Given the description of an element on the screen output the (x, y) to click on. 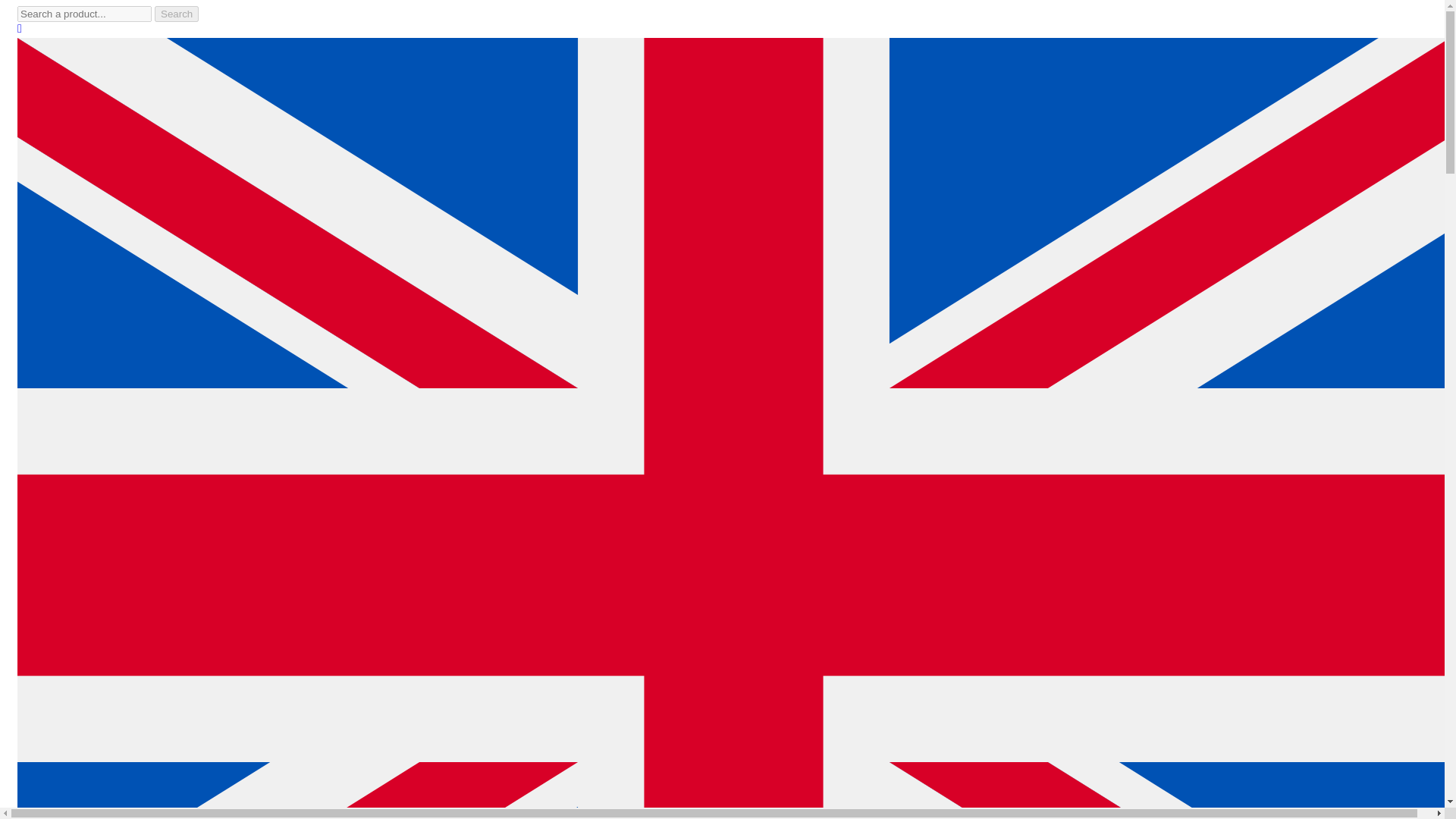
Search (176, 13)
